Given the description of an element on the screen output the (x, y) to click on. 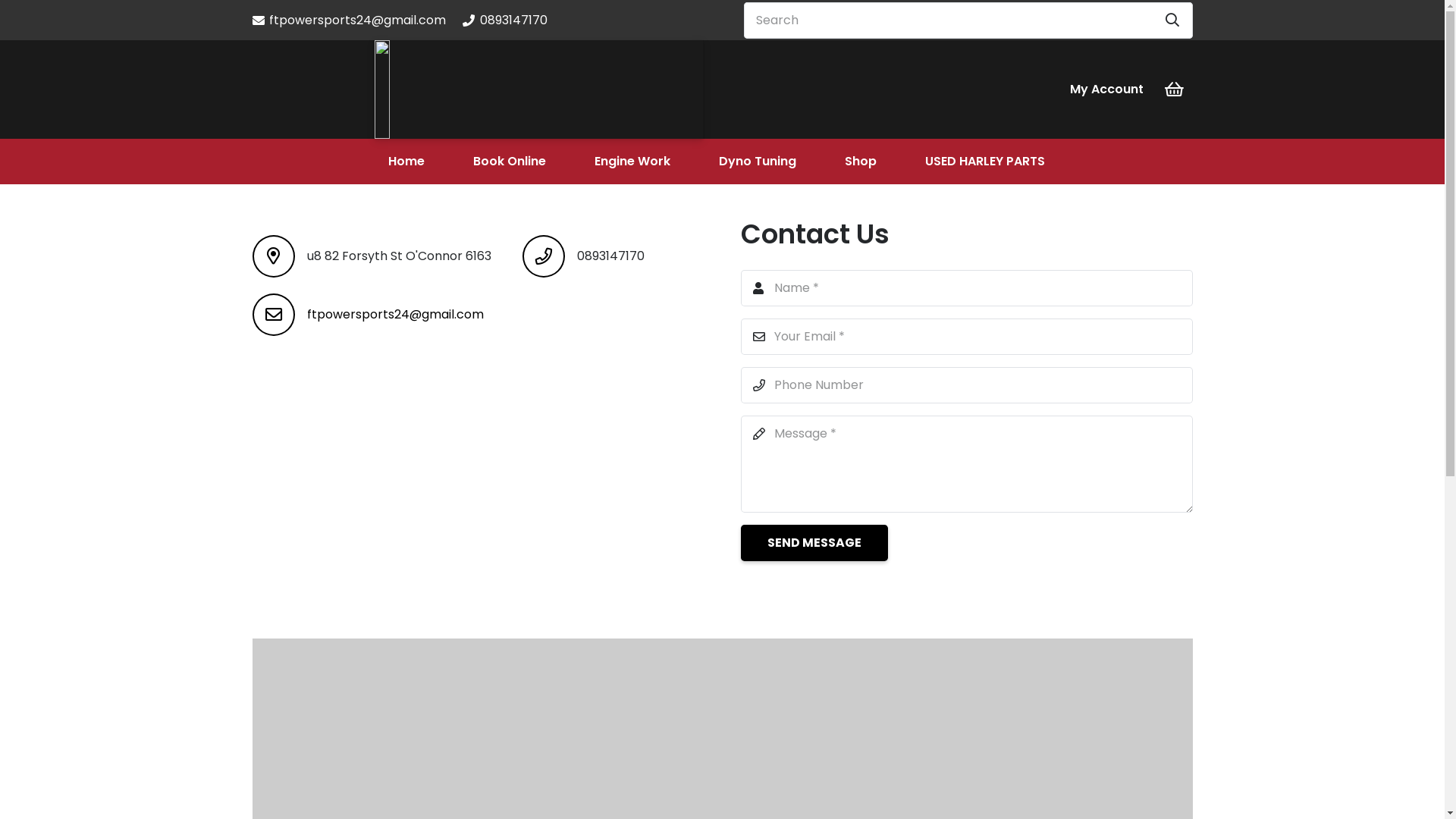
USED HARLEY PARTS Element type: text (984, 161)
0 Element type: text (1173, 89)
My Account Element type: text (1106, 88)
Shop Element type: text (860, 161)
SEND MESSAGE Element type: text (813, 542)
Home Element type: text (406, 161)
Engine Work Element type: text (632, 161)
ftpowersports24@gmail.com Element type: text (394, 314)
Dyno Tuning Element type: text (757, 161)
Book Online Element type: text (509, 161)
